Given the description of an element on the screen output the (x, y) to click on. 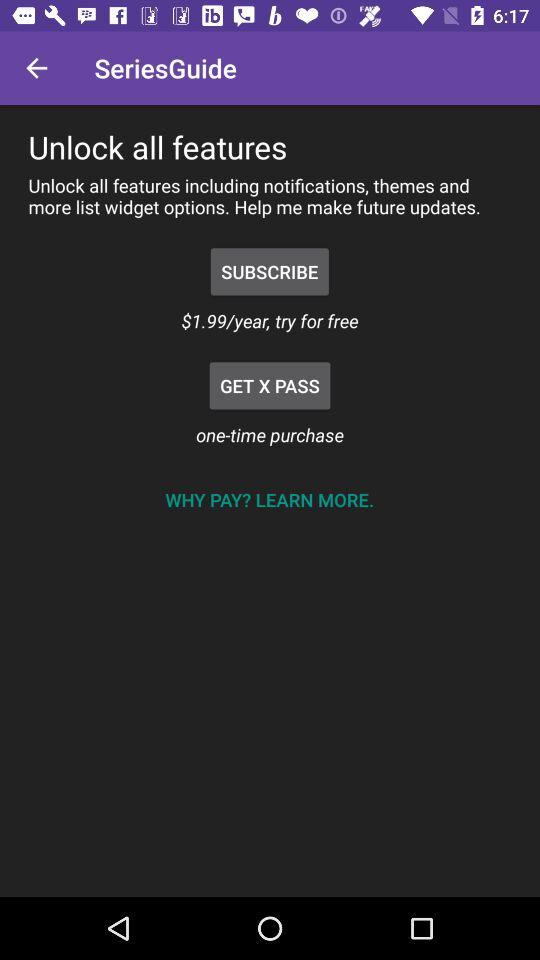
tap why pay learn (269, 499)
